Given the description of an element on the screen output the (x, y) to click on. 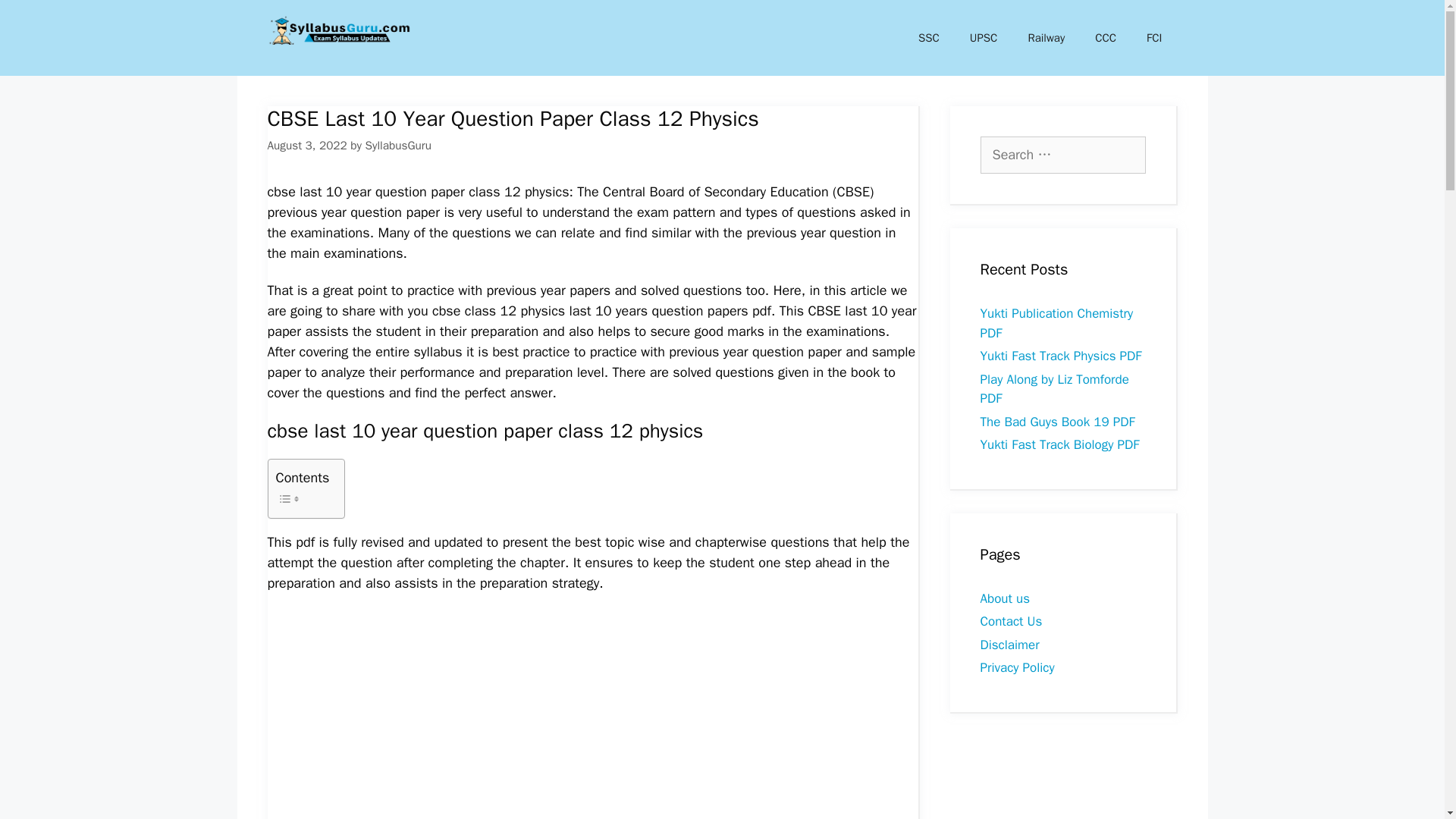
FCI (1153, 37)
View all posts by SyllabusGuru (397, 145)
SyllabusGuru (397, 145)
CCC (1105, 37)
Search for: (1061, 154)
UPSC (984, 37)
SSC (928, 37)
Railway (1045, 37)
